Given the description of an element on the screen output the (x, y) to click on. 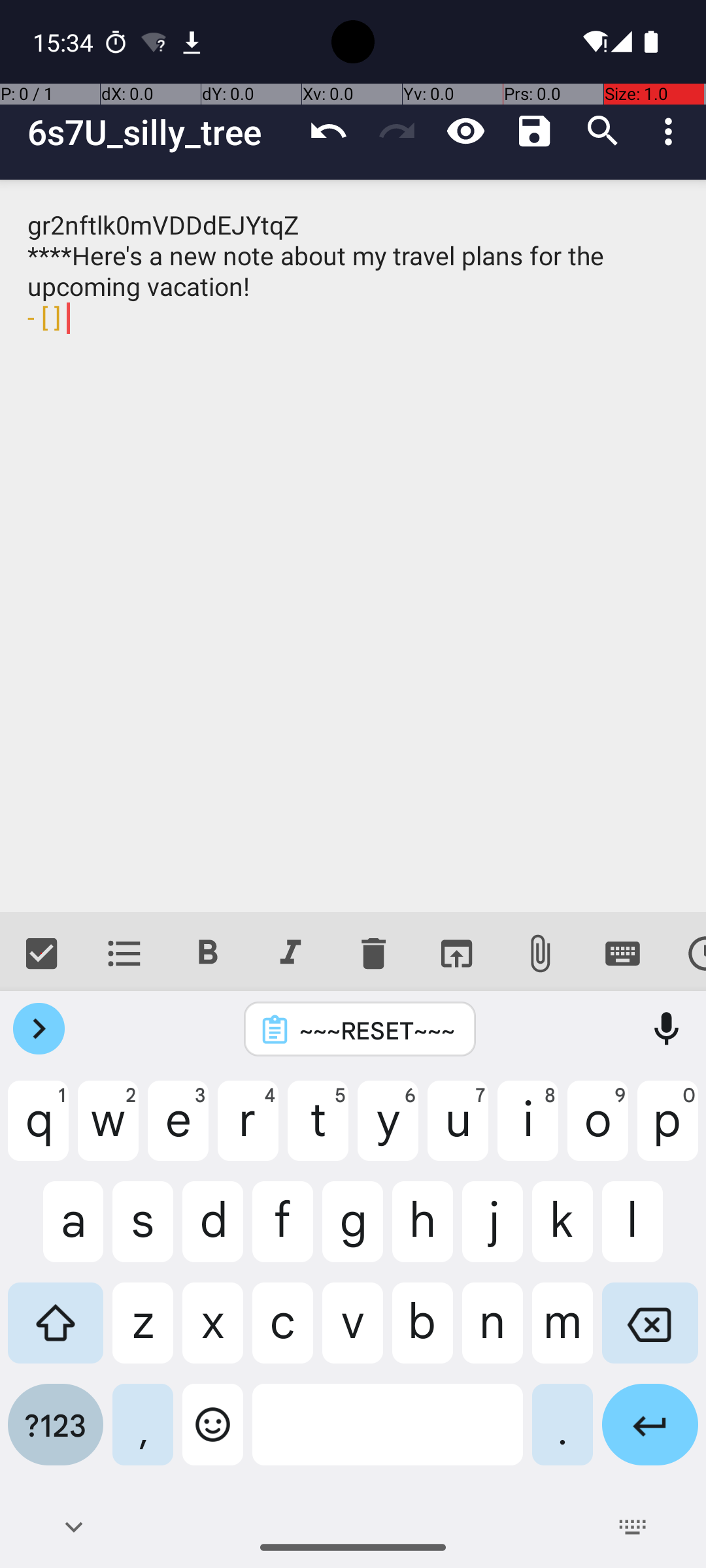
6s7U_silly_tree Element type: android.widget.TextView (160, 131)
gr2nftlk0mVDDdEJYtqZ
****Here's a new note about my travel plans for the upcoming vacation!
 Element type: android.widget.EditText (353, 545)
